Given the description of an element on the screen output the (x, y) to click on. 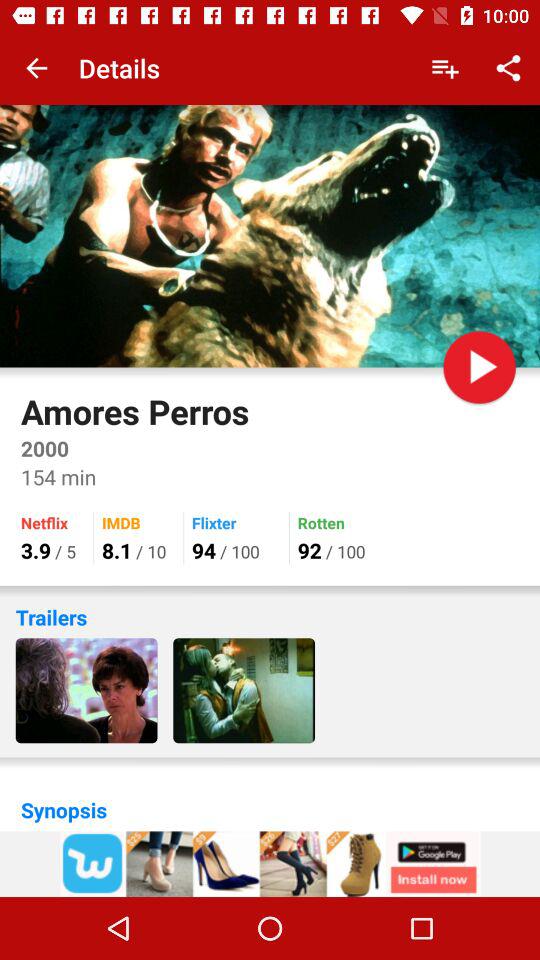
advertisement (270, 864)
